Given the description of an element on the screen output the (x, y) to click on. 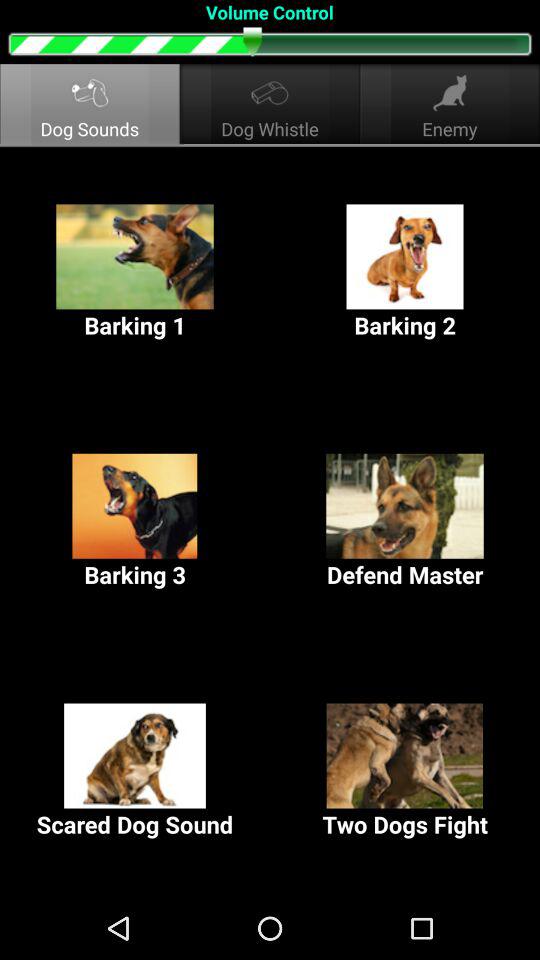
turn on the scared dog sound at the bottom left corner (135, 771)
